Given the description of an element on the screen output the (x, y) to click on. 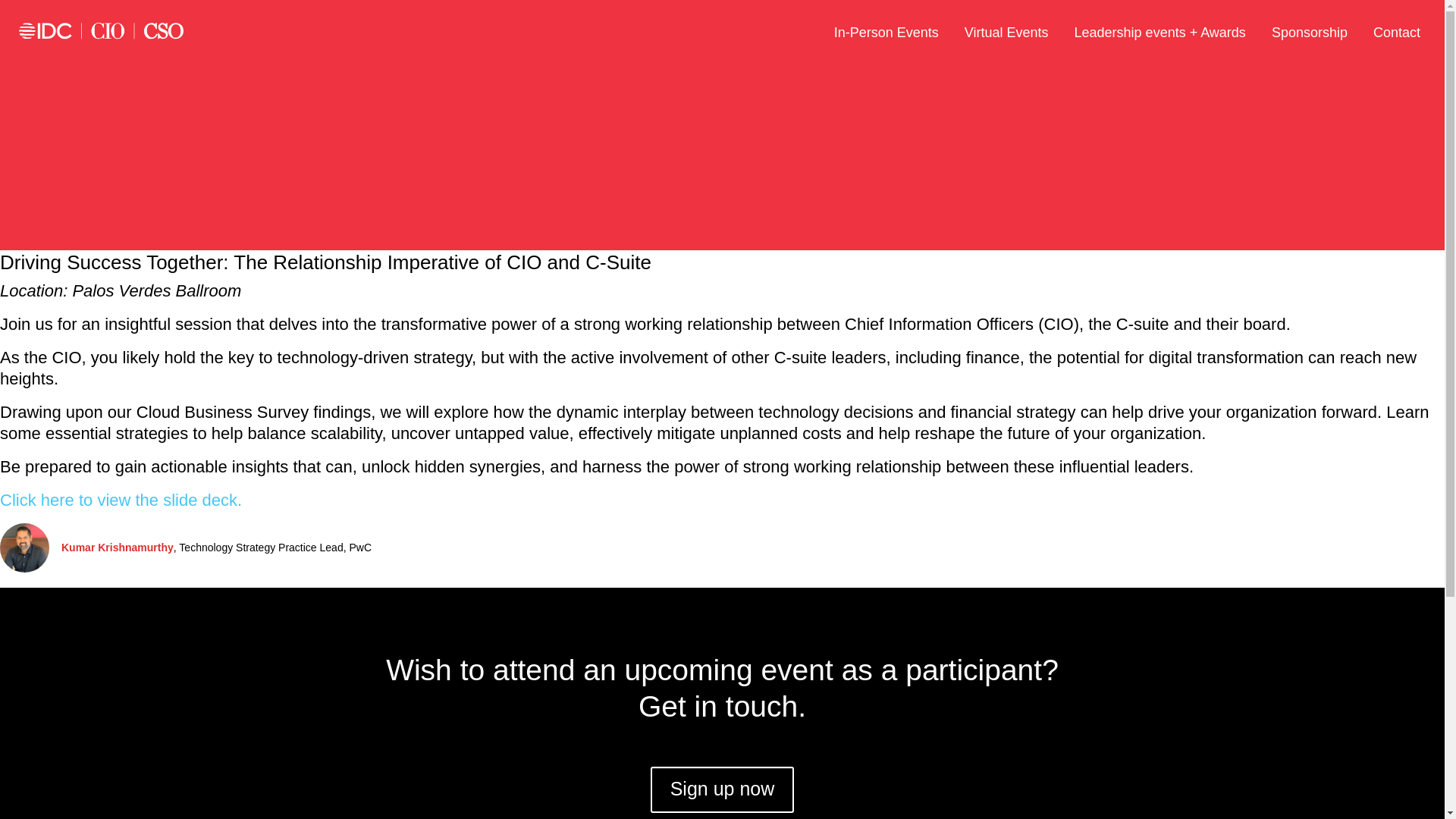
In-Person Events (886, 30)
Sponsorship (1309, 30)
Click here to view the slide deck. (120, 499)
Sign up now (721, 789)
Virtual Events (1006, 30)
Kumar Krishnamurthy (117, 547)
Contact (1396, 30)
